Given the description of an element on the screen output the (x, y) to click on. 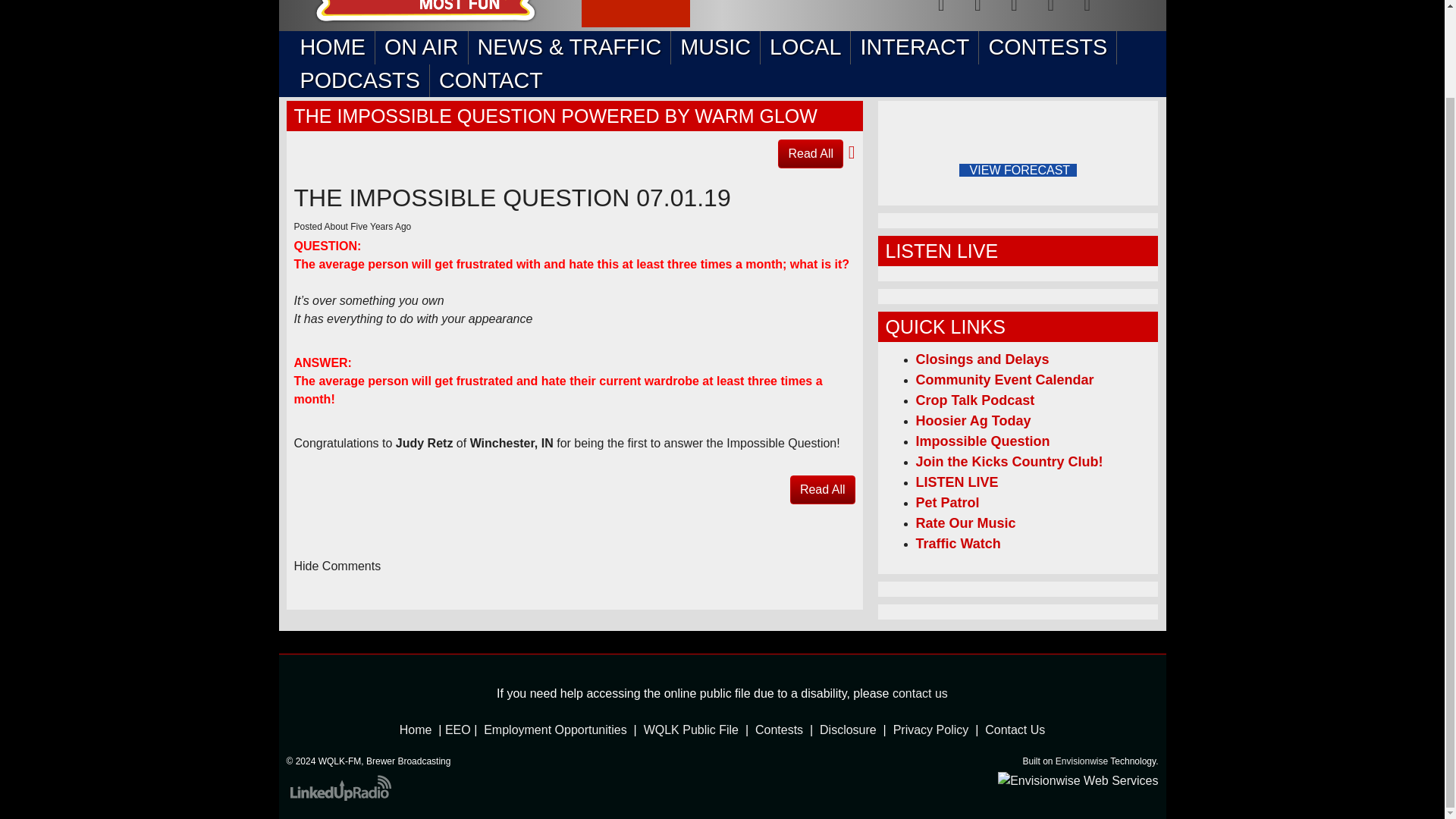
INTERACT (914, 47)
LOCAL (805, 47)
MUSIC (715, 47)
HOME (332, 47)
ON AIR (421, 47)
Read All (810, 153)
